Given the description of an element on the screen output the (x, y) to click on. 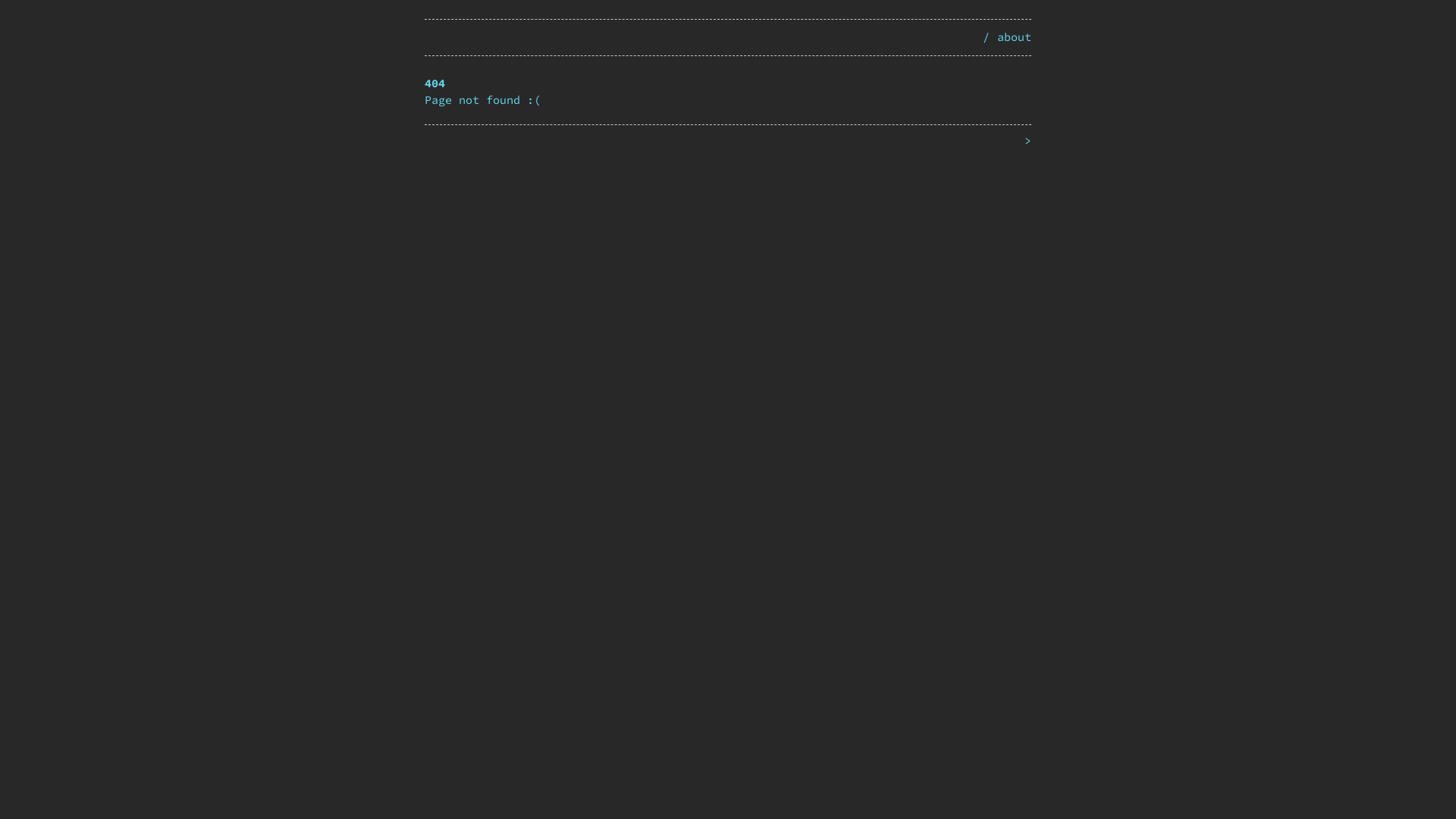
/ Element type: text (985, 36)
about Element type: text (1014, 36)
> Element type: text (1027, 140)
